Given the description of an element on the screen output the (x, y) to click on. 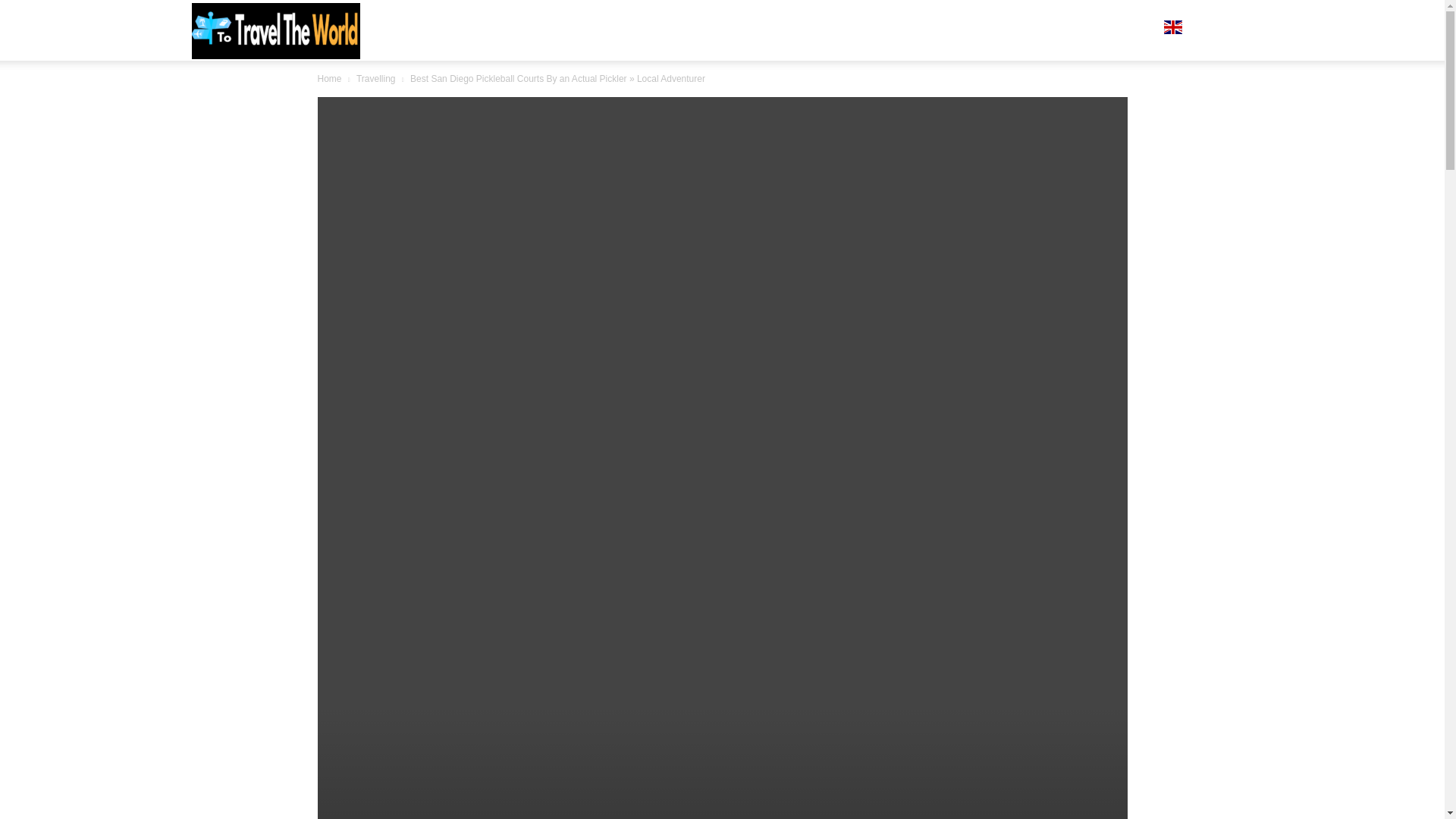
Home (328, 78)
To Travel The World (274, 30)
Travelling (1117, 30)
Travelling (376, 78)
Travel Tips (1043, 30)
Search (1210, 102)
View all posts in Travelling (376, 78)
English (1179, 30)
